Given the description of an element on the screen output the (x, y) to click on. 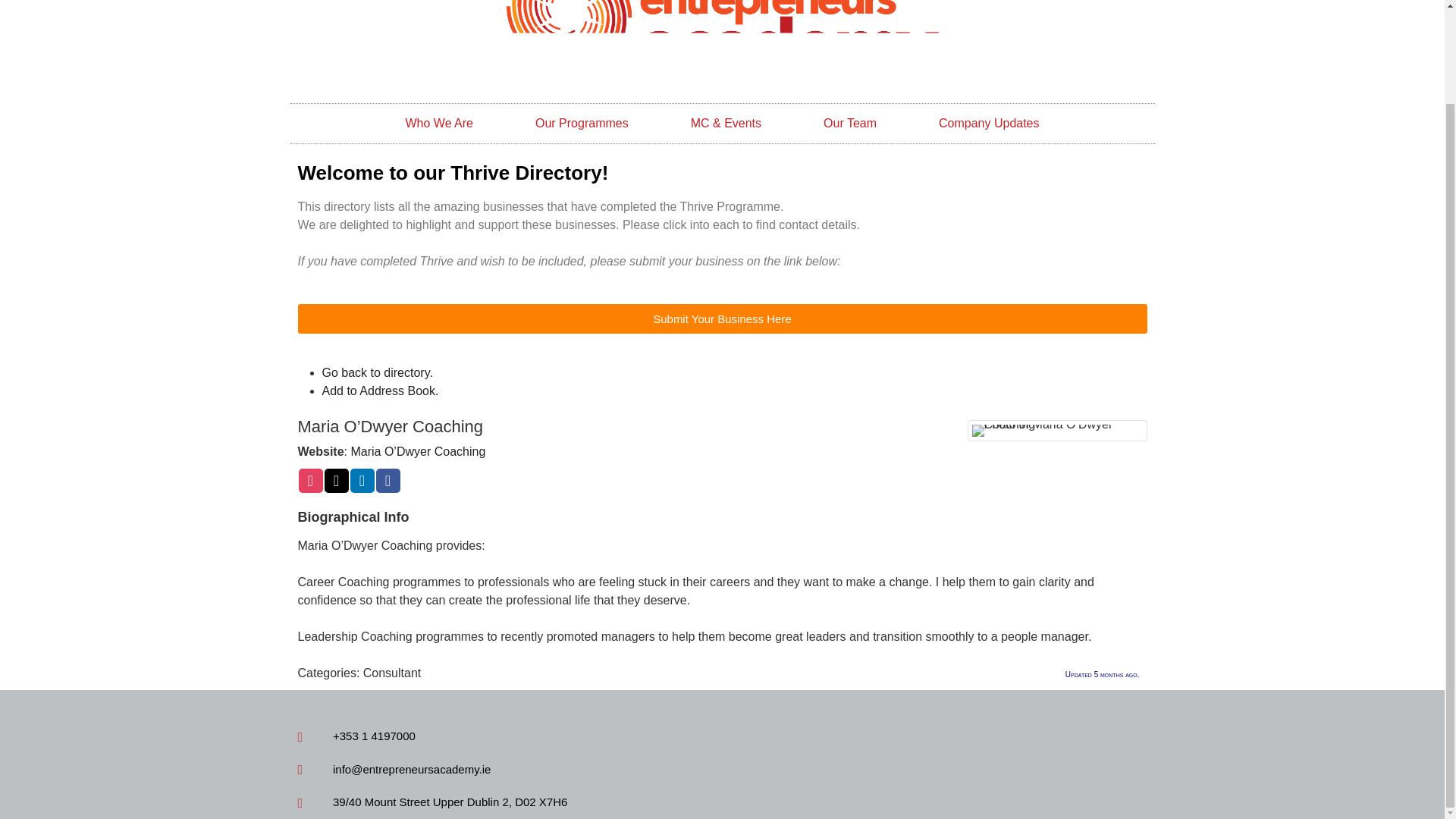
Our Programmes (581, 123)
Download vCard (379, 390)
Who We Are (438, 123)
